Given the description of an element on the screen output the (x, y) to click on. 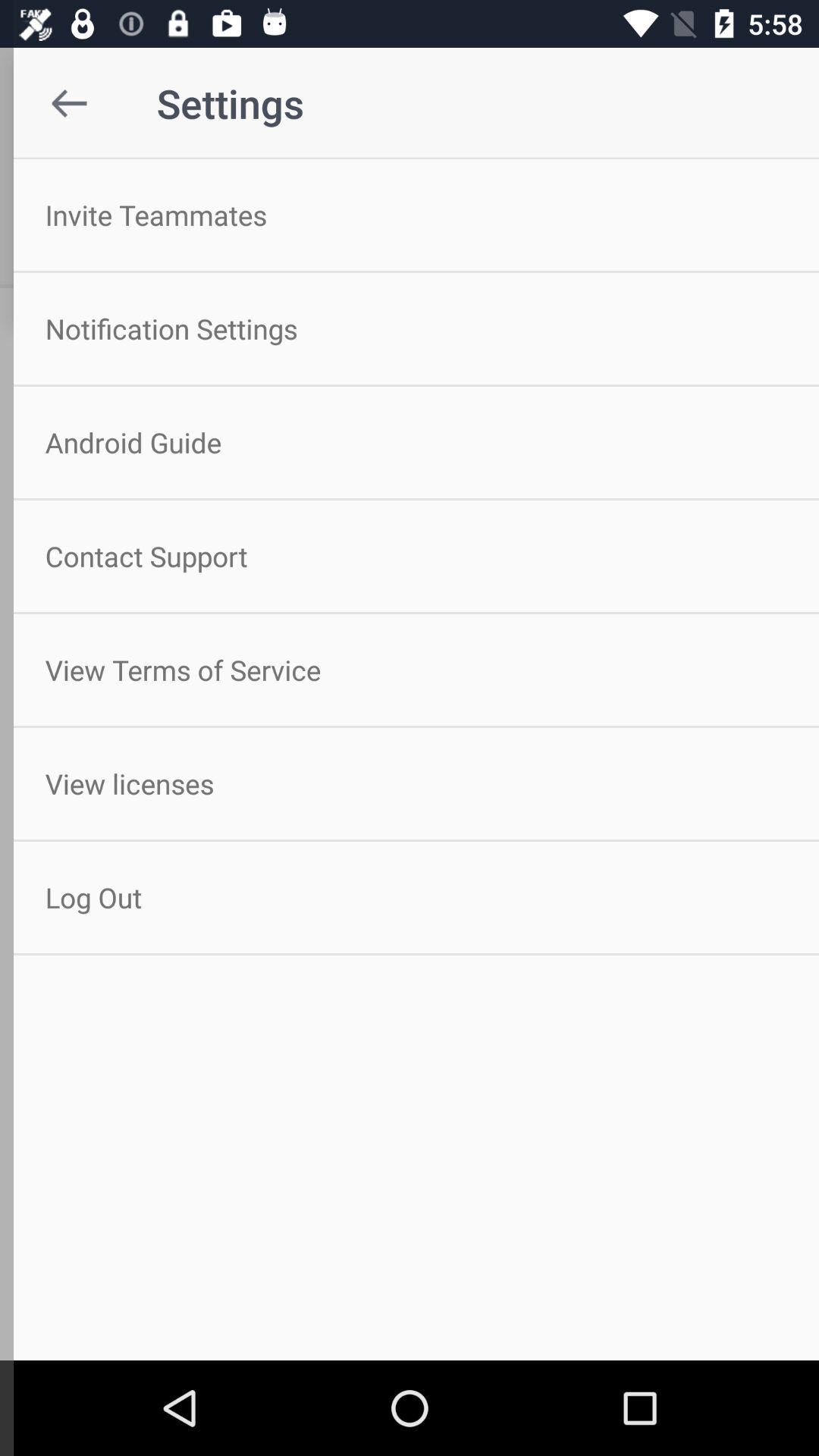
jump until log out icon (409, 897)
